Given the description of an element on the screen output the (x, y) to click on. 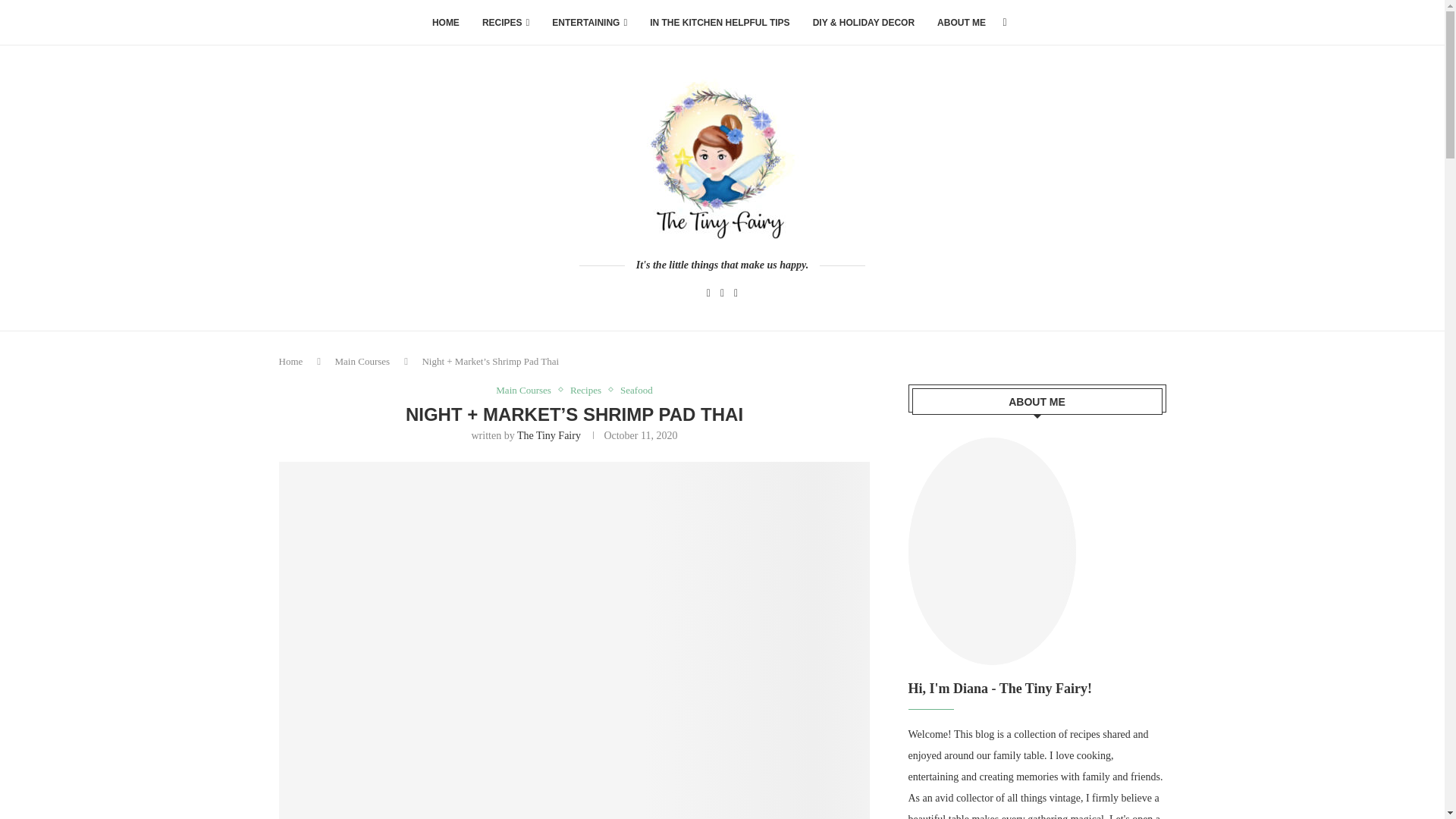
IN THE KITCHEN HELPFUL TIPS (719, 22)
ENTERTAINING (589, 22)
Home (290, 360)
Main Courses (362, 360)
RECIPES (505, 22)
Seafood (636, 390)
Recipes (589, 390)
Main Courses (527, 390)
ABOUT ME (961, 22)
